Given the description of an element on the screen output the (x, y) to click on. 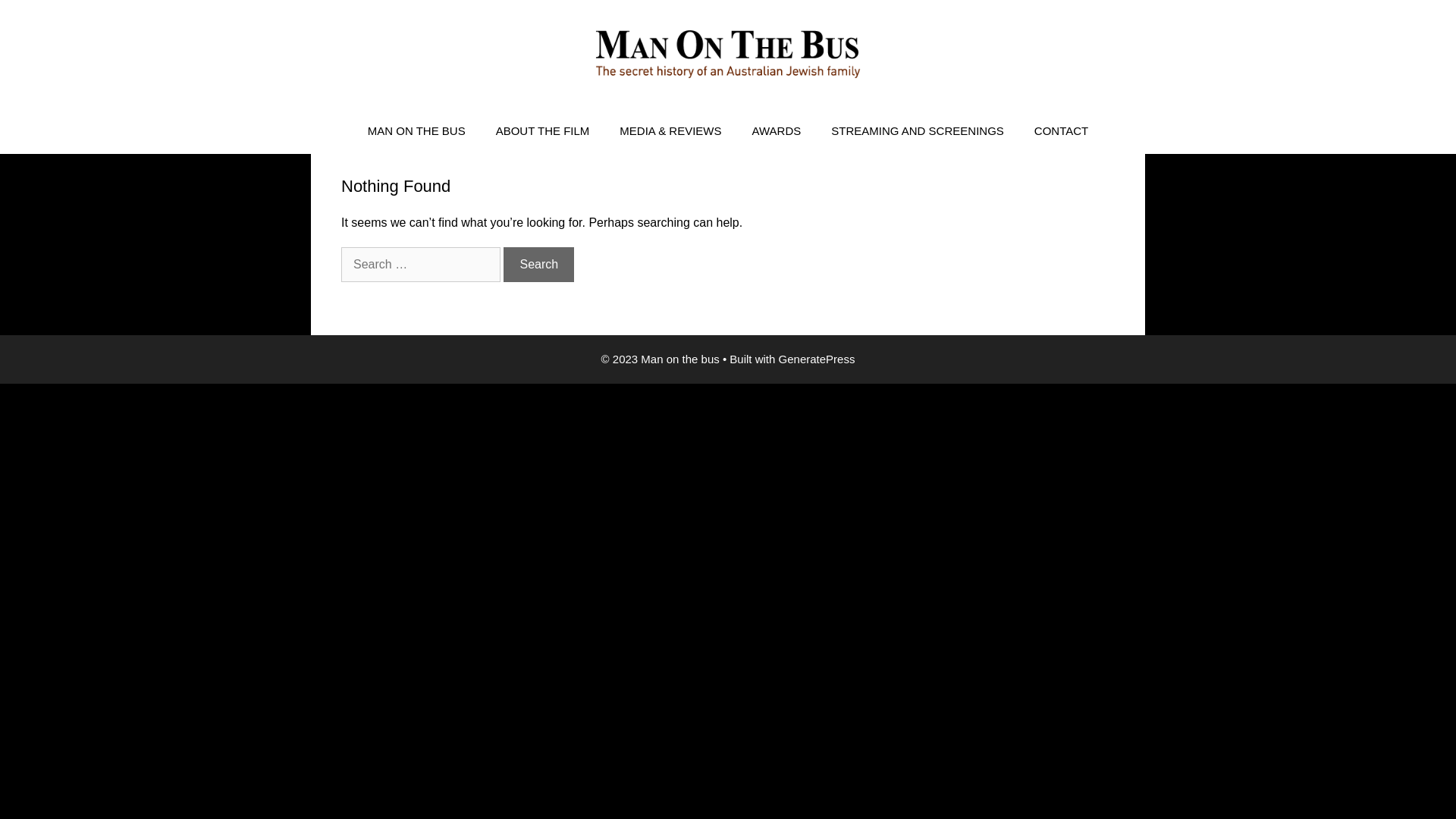
MEDIA & REVIEWS Element type: text (670, 130)
Search for: Element type: hover (420, 264)
CONTACT Element type: text (1061, 130)
AWARDS Element type: text (776, 130)
GeneratePress Element type: text (816, 358)
ABOUT THE FILM Element type: text (542, 130)
Search Element type: text (538, 264)
STREAMING AND SCREENINGS Element type: text (917, 130)
Man on the bus Element type: hover (727, 53)
MAN ON THE BUS Element type: text (416, 130)
Man on the bus Element type: hover (727, 54)
